Given the description of an element on the screen output the (x, y) to click on. 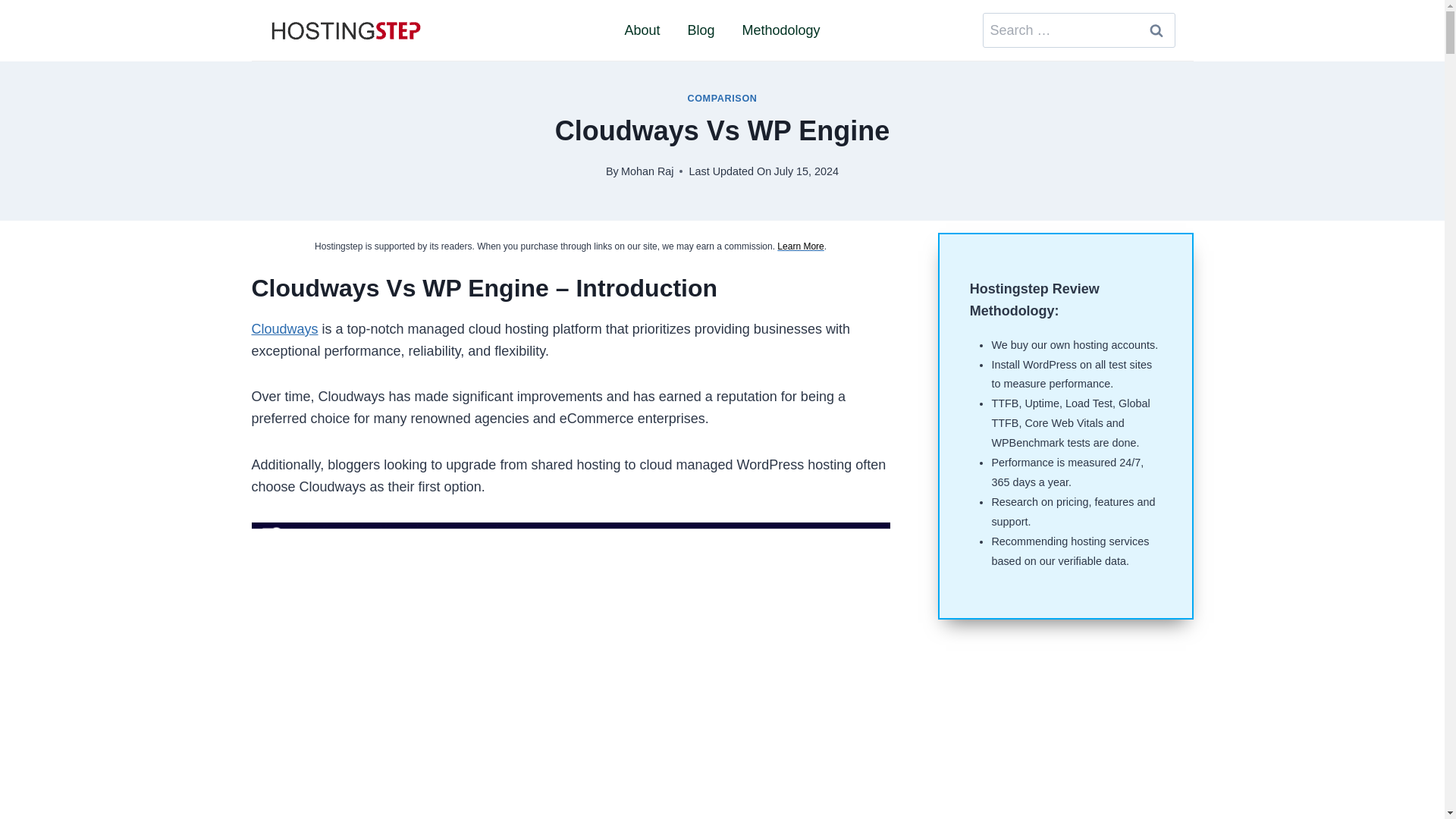
COMPARISON (722, 98)
Search (1155, 29)
Learn More (800, 245)
Mohan Raj (647, 171)
Search (1155, 29)
Search (1155, 29)
Methodology (780, 30)
Blog (700, 30)
Cloudways (284, 328)
About (641, 30)
